Given the description of an element on the screen output the (x, y) to click on. 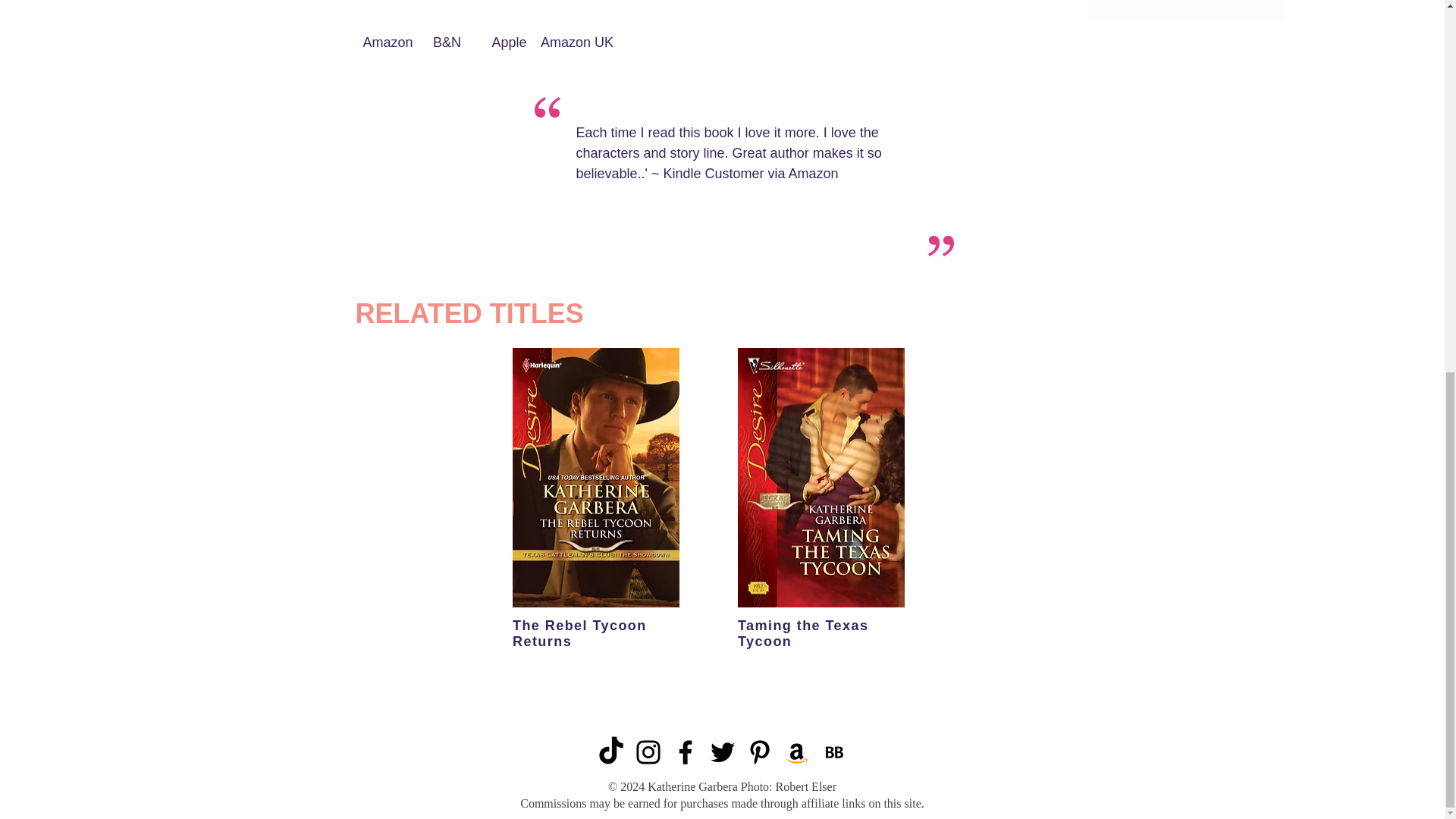
Amazon UK (577, 42)
Apple (509, 42)
Amazon (388, 42)
